Given the description of an element on the screen output the (x, y) to click on. 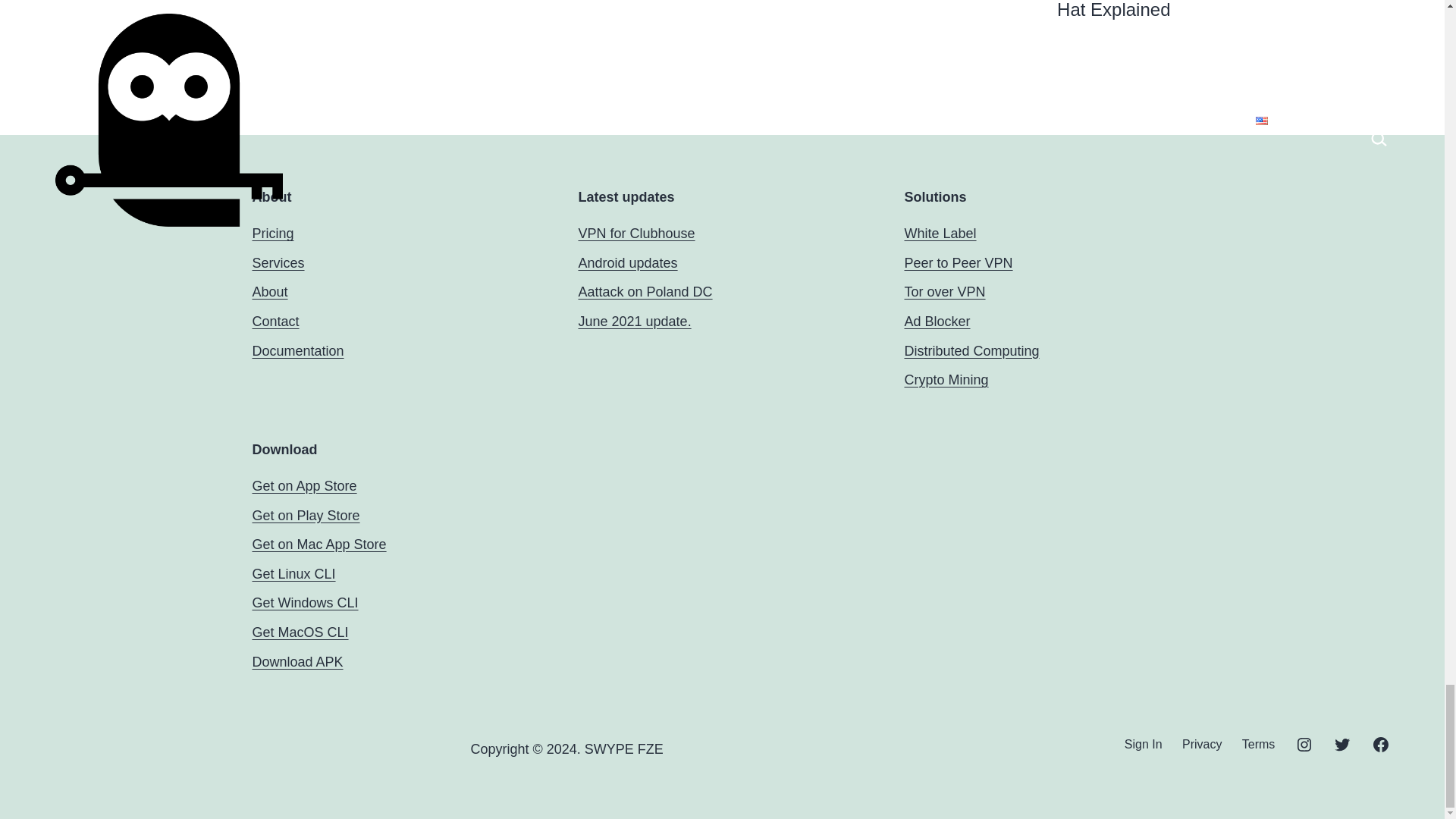
June 2021 update. (634, 321)
Get on Mac App Store (318, 544)
Peer to Peer VPN (957, 263)
White Label (939, 233)
Contact (274, 321)
VPN for Clubhouse (636, 233)
Crypto Mining (946, 379)
Get Windows CLI (304, 602)
Download APK (296, 661)
Get Linux CLI (292, 573)
Get MacOS CLI (299, 631)
Android updates (627, 263)
Tor over VPN (944, 291)
Pricing (272, 233)
